Given the description of an element on the screen output the (x, y) to click on. 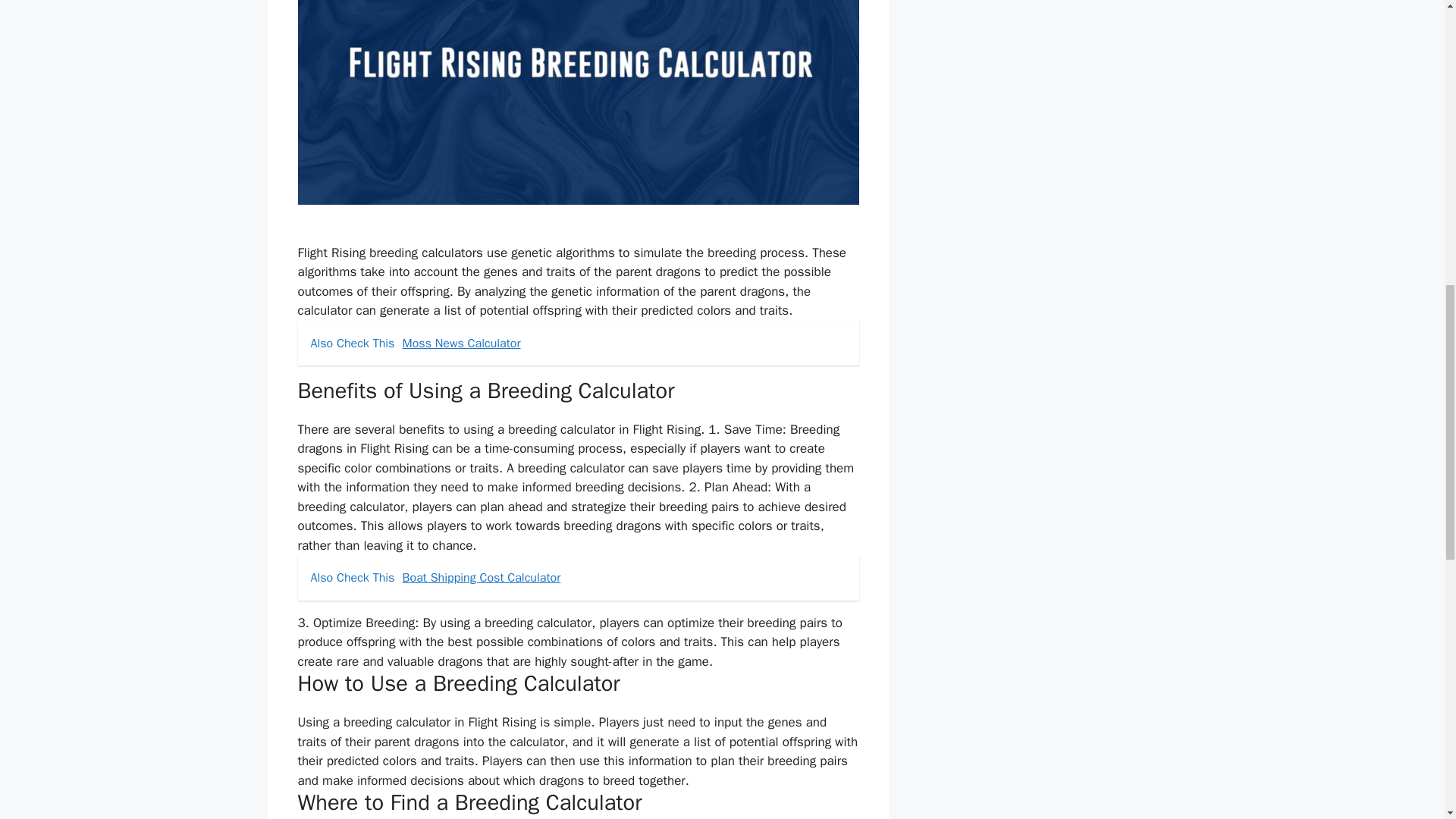
Also Check This  Moss News Calculator (578, 343)
Also Check This  Boat Shipping Cost Calculator (578, 577)
